Given the description of an element on the screen output the (x, y) to click on. 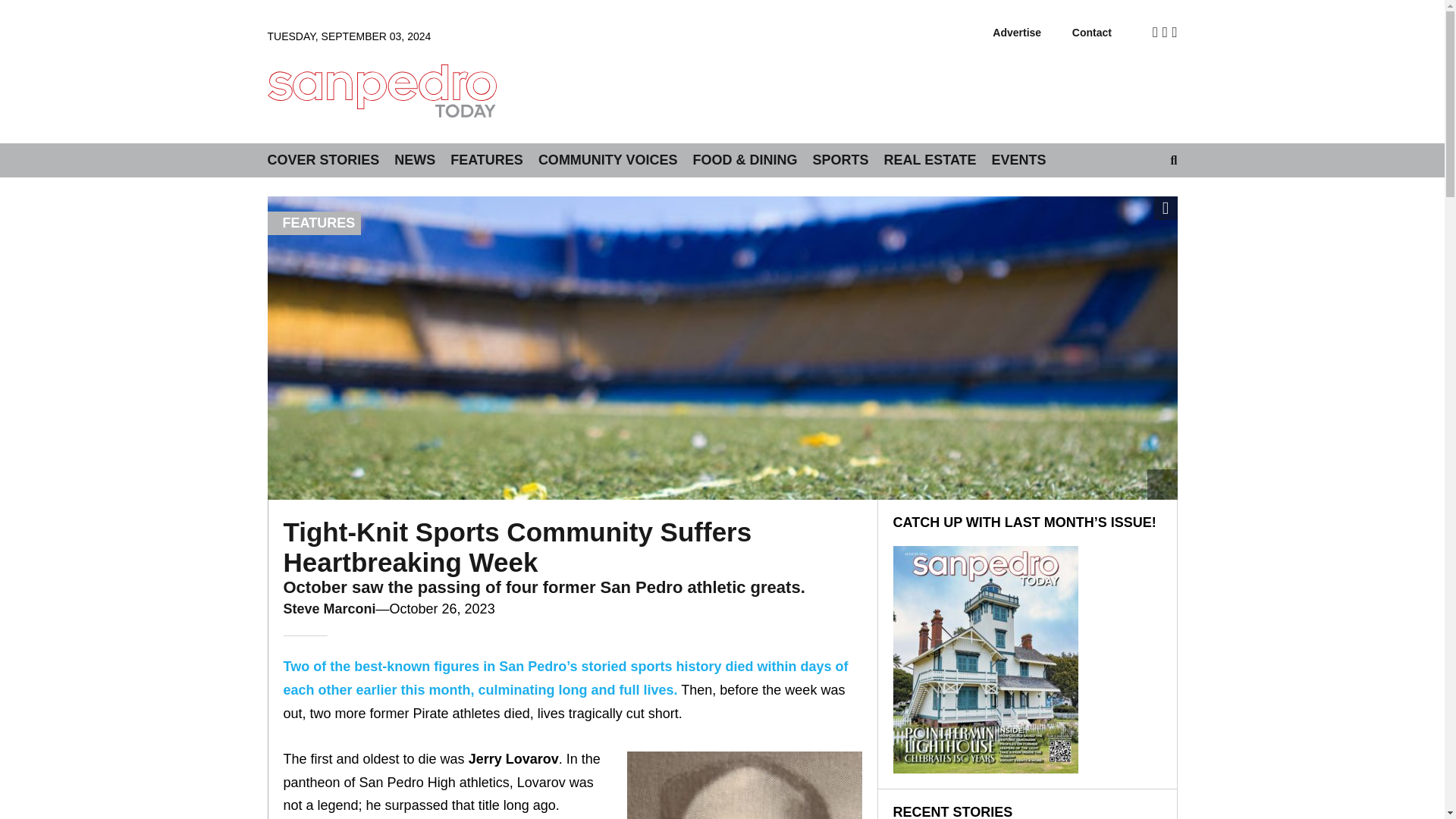
COMMUNITY VOICES (608, 160)
REAL ESTATE (929, 160)
Steve Marconi (329, 608)
Open image in lightbox (1165, 208)
View Large Image (1165, 208)
COVER STORIES (322, 160)
NEWS (414, 160)
EVENTS (1018, 160)
Advertise (1016, 31)
